Given the description of an element on the screen output the (x, y) to click on. 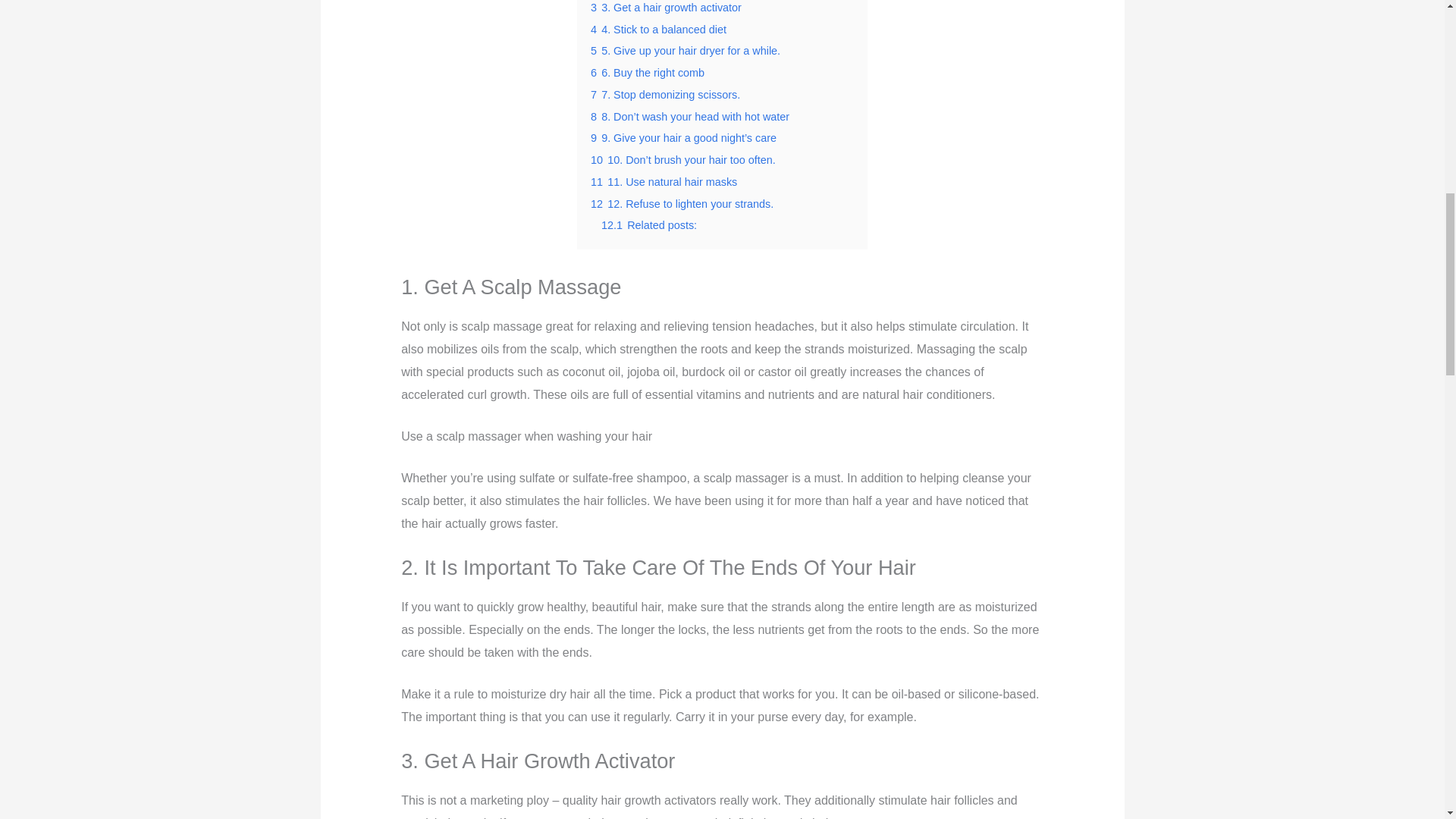
5 5. Give up your hair dryer for a while. (685, 50)
7 7. Stop demonizing scissors. (665, 94)
12 12. Refuse to lighten your strands. (682, 203)
6 6. Buy the right comb (647, 72)
3 3. Get a hair growth activator (666, 7)
4 4. Stick to a balanced diet (658, 29)
11 11. Use natural hair masks (663, 182)
12.1 Related posts: (649, 224)
